Given the description of an element on the screen output the (x, y) to click on. 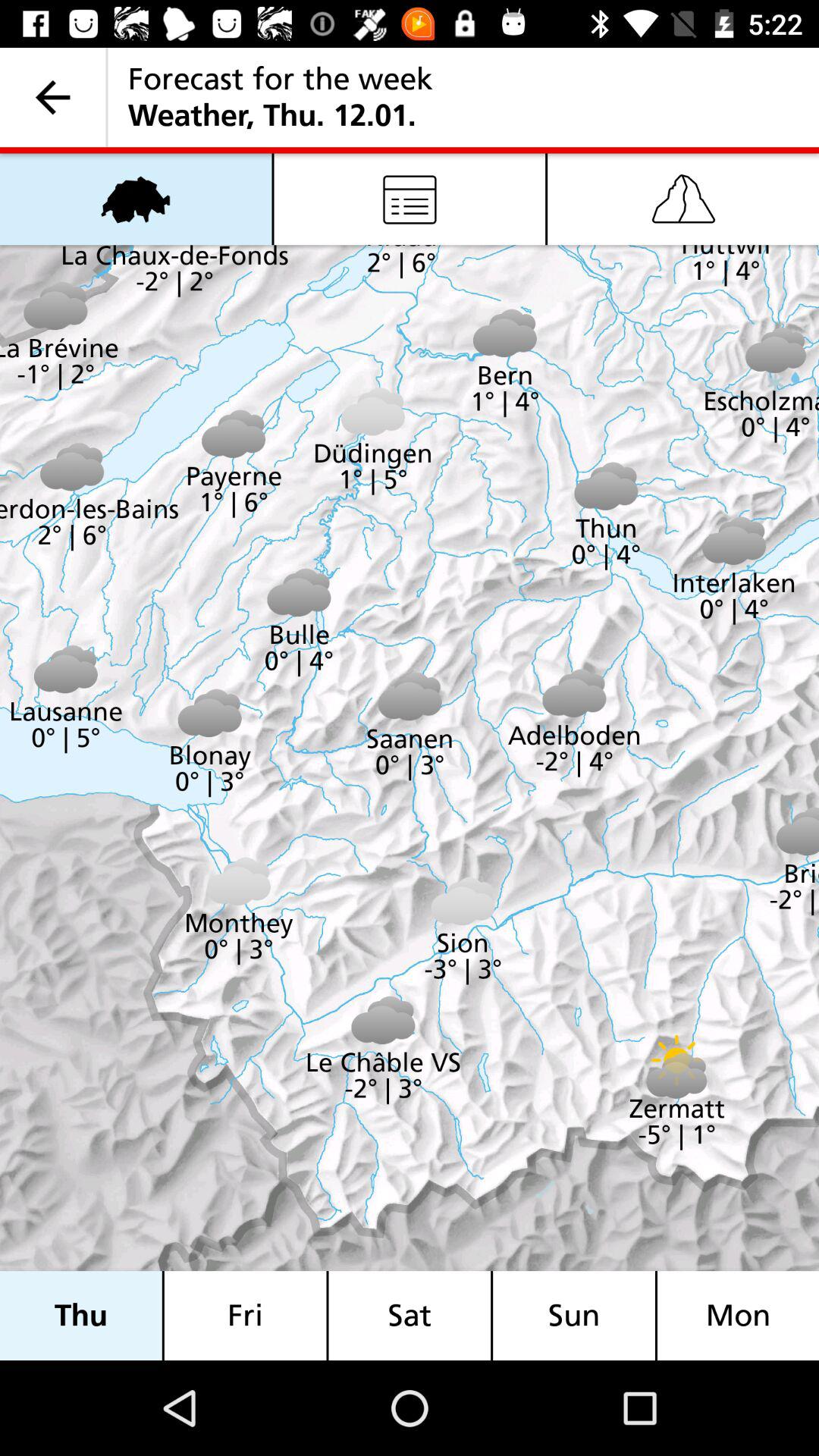
click icon next to the thu (245, 1315)
